Given the description of an element on the screen output the (x, y) to click on. 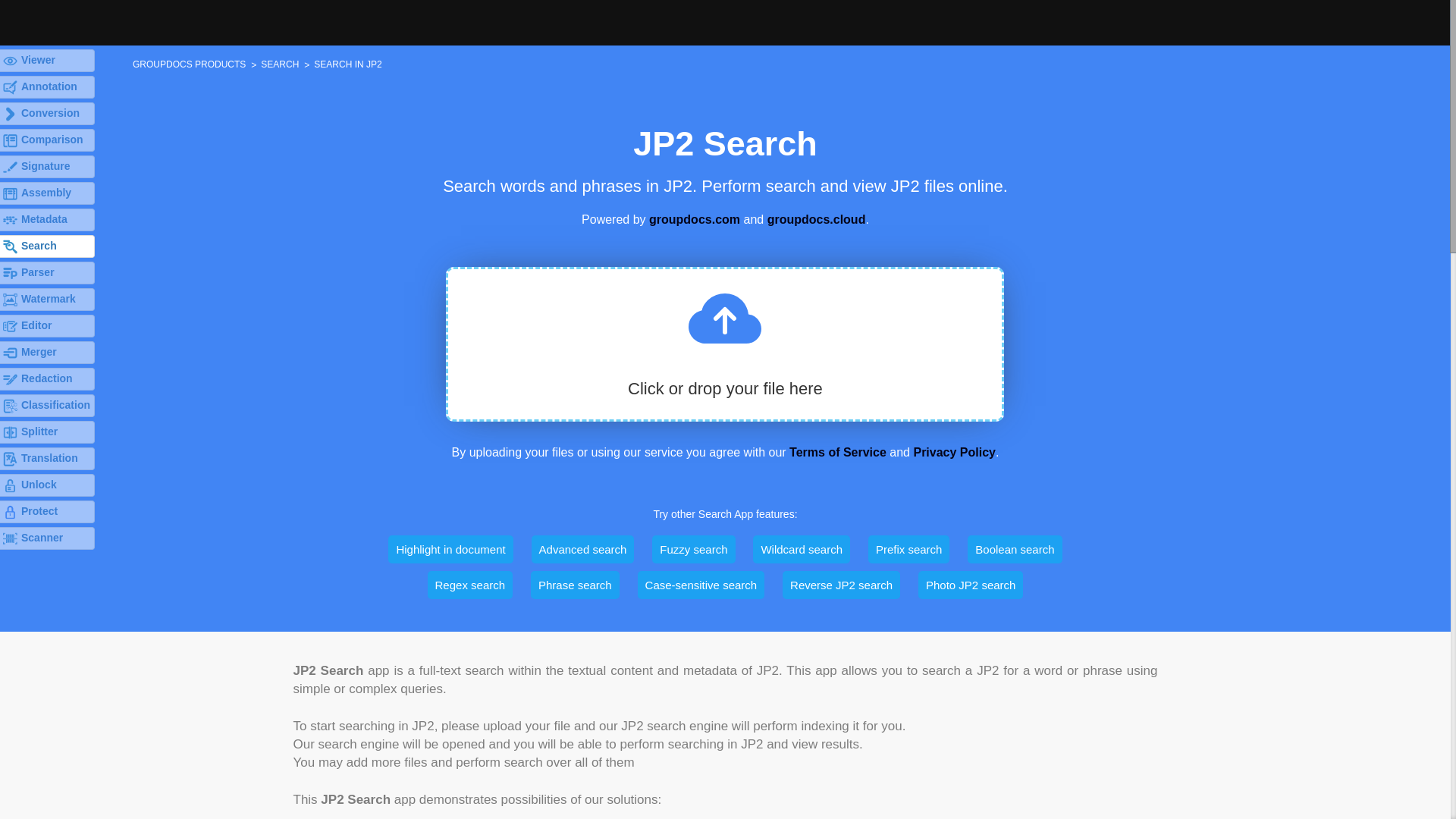
View widely used file formats. (47, 60)
GROUPDOCS PRODUCTS (189, 63)
Annotate documents and images. (47, 87)
SEARCH (279, 63)
Privacy Policy (953, 451)
Regex search (470, 584)
Wildcard search (801, 549)
Prefix search (908, 549)
